Given the description of an element on the screen output the (x, y) to click on. 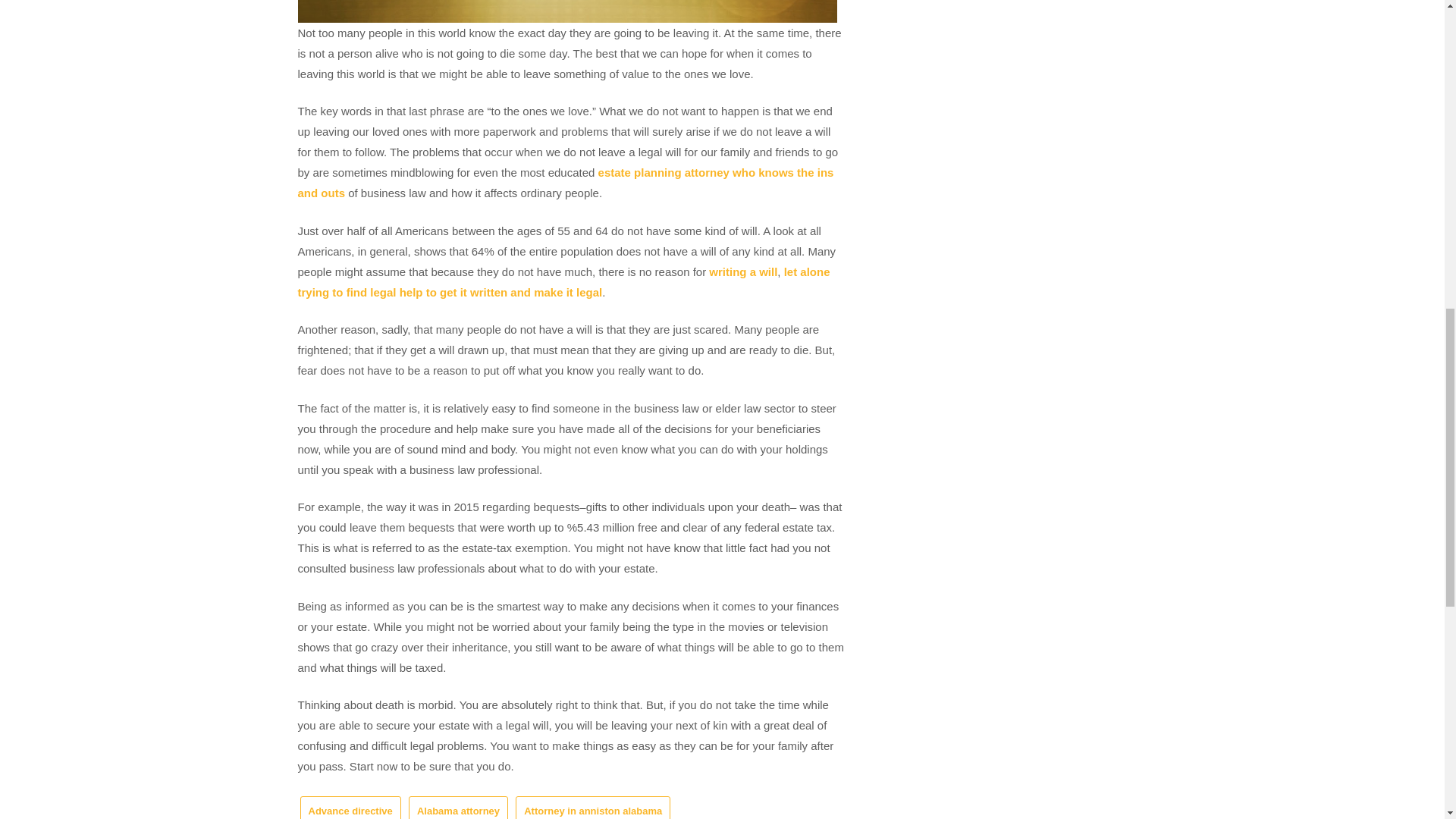
estate planning attorney who knows the ins and outs (564, 182)
Get more (563, 281)
Attorney in anniston alabama (592, 807)
Lawyers in alabama (743, 271)
Alabama attorney (458, 807)
Advance directive (350, 807)
writing a will (743, 271)
Information related to Attorney in anniston alabama (564, 182)
